Given the description of an element on the screen output the (x, y) to click on. 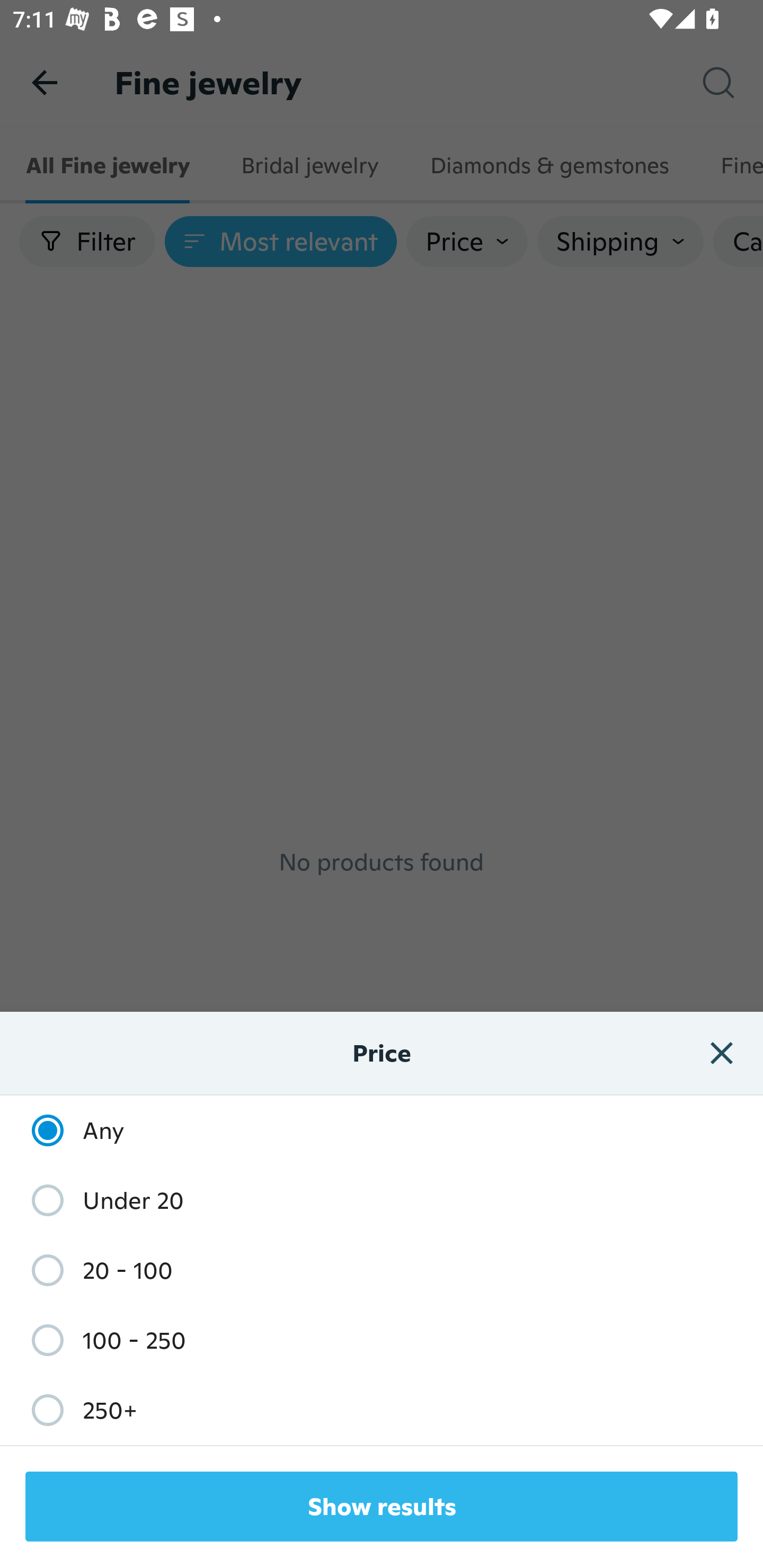
Any (69, 1130)
Under 20 (98, 1200)
20 - 100 (92, 1269)
100 - 250 (99, 1339)
250+ (75, 1410)
Show results (381, 1506)
